Given the description of an element on the screen output the (x, y) to click on. 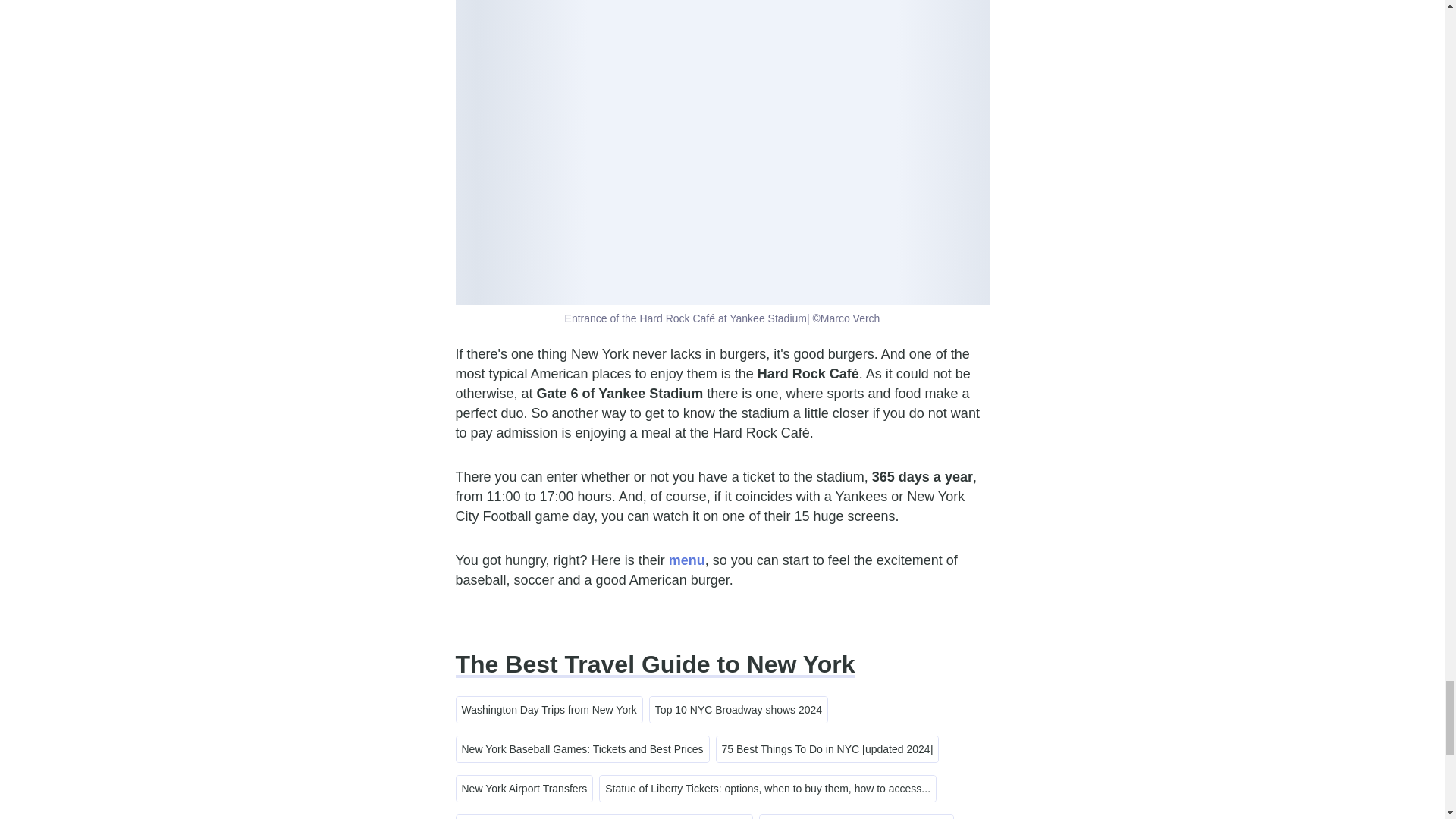
New York Baseball Games: Tickets and Best Prices (583, 749)
The Best Travel Guide to New York (654, 664)
New York Airport Transfers (524, 788)
menu (686, 560)
Top 10 NYC Broadway shows 2024 (738, 709)
Washington Day Trips from New York (549, 709)
Niagara Falls Day Trips from New York (856, 816)
NBA Basketball Games in New York: Tickets and Best Prices (604, 816)
